Given the description of an element on the screen output the (x, y) to click on. 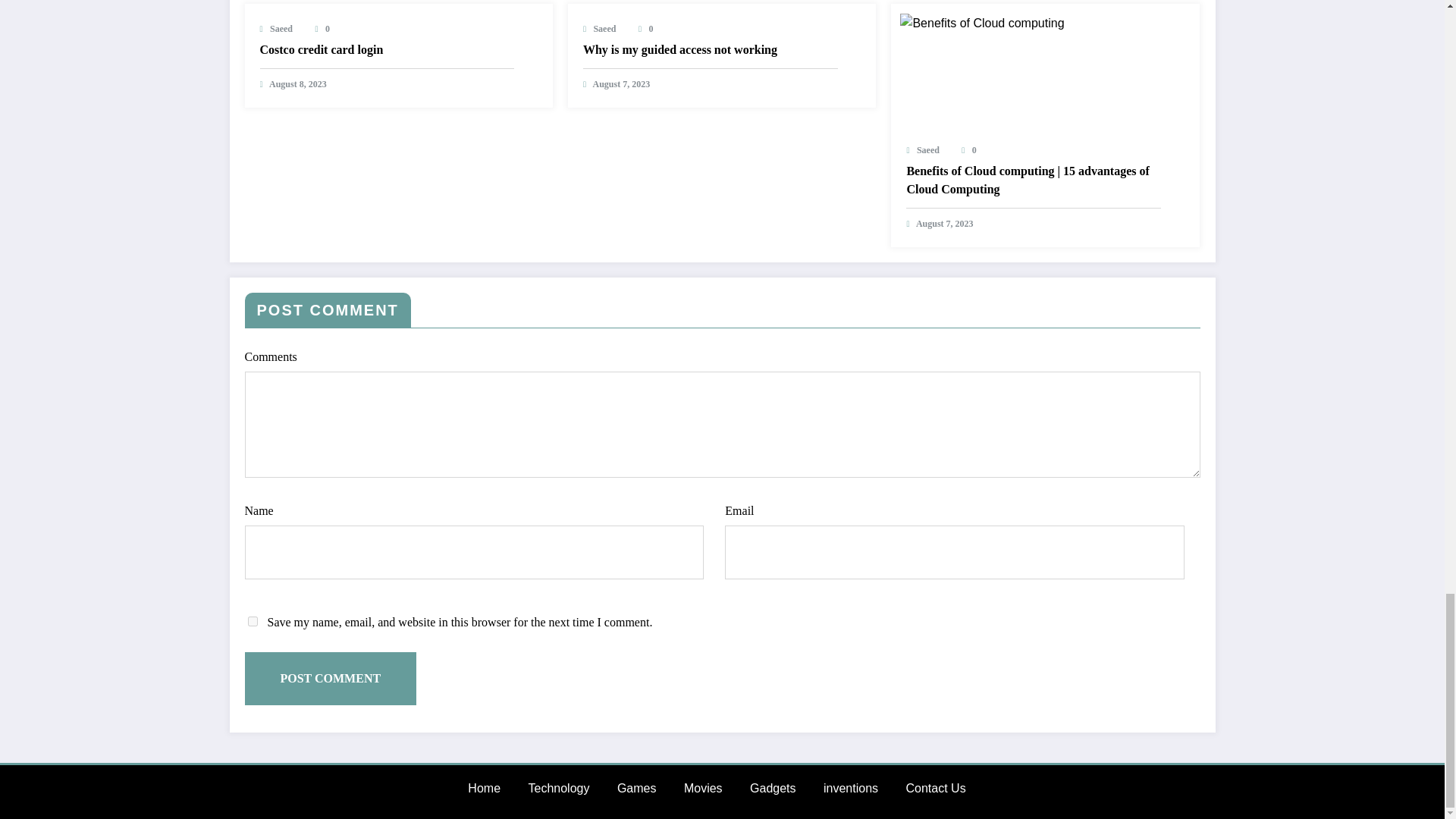
yes (252, 621)
Post Comment (330, 678)
Saeed (280, 28)
